Given the description of an element on the screen output the (x, y) to click on. 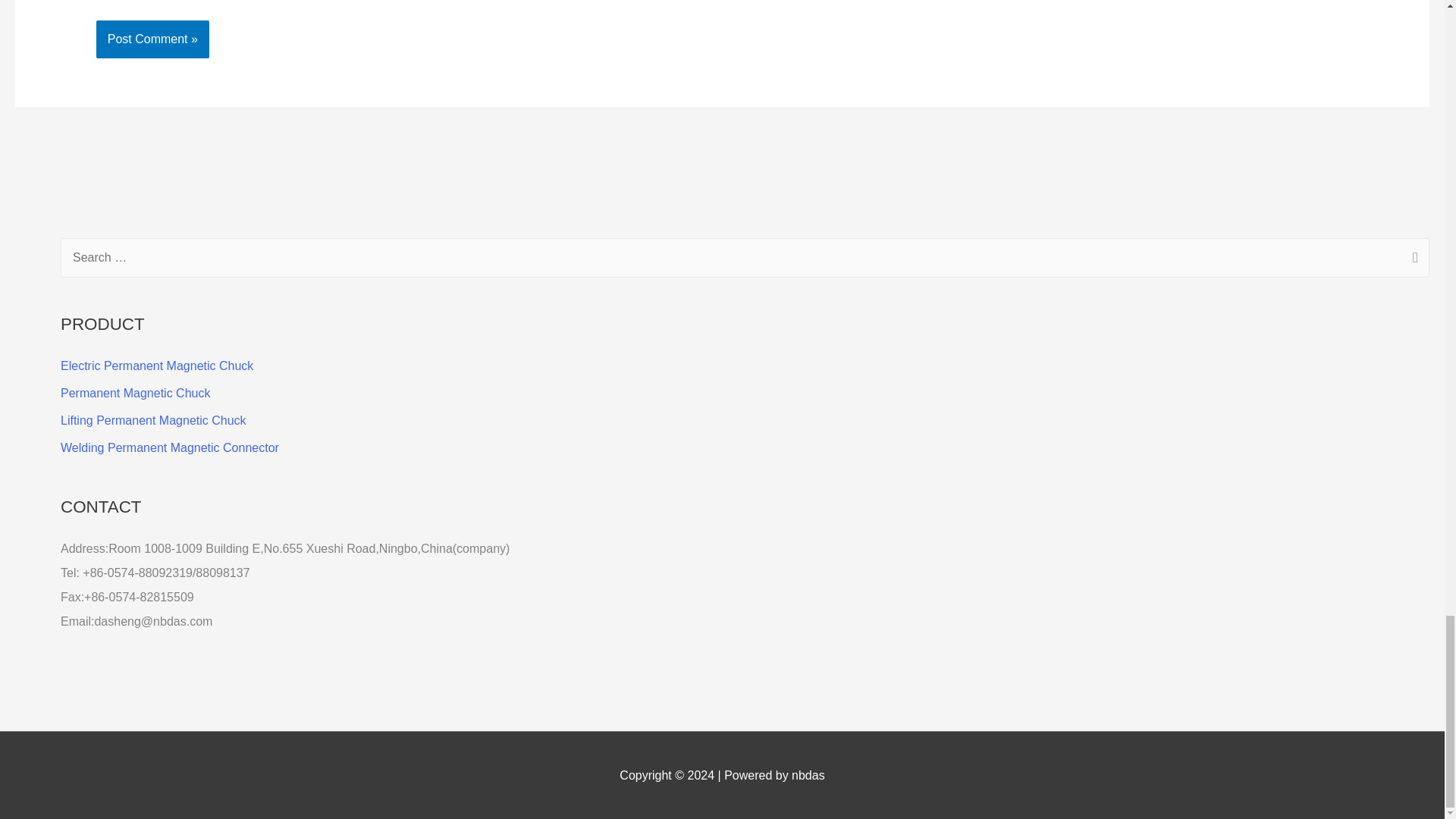
Electric Permanent Magnetic Chuck (157, 365)
Lifting Permanent Magnetic Chuck (153, 420)
Permanent Magnetic Chuck (135, 392)
Welding Permanent Magnetic Connector (170, 447)
